Given the description of an element on the screen output the (x, y) to click on. 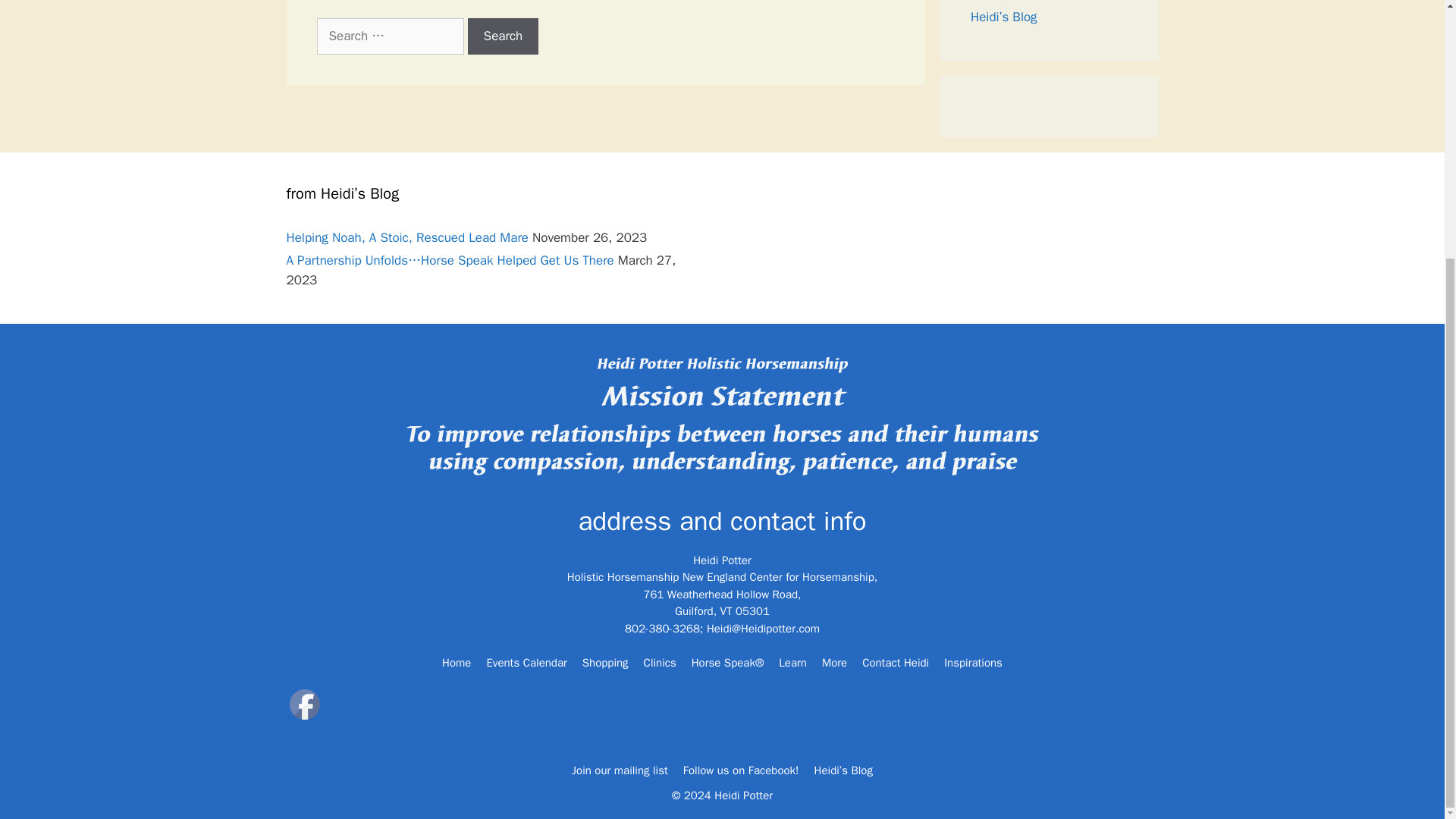
Follow us on Facebook! (1036, 1)
Search (502, 36)
Search for: (390, 36)
Events Calendar (526, 662)
Home (456, 662)
Search (502, 36)
Facebook (304, 704)
Search (502, 36)
Shopping (605, 662)
Helping Noah, A Stoic, Rescued Lead Mare (407, 236)
